Given the description of an element on the screen output the (x, y) to click on. 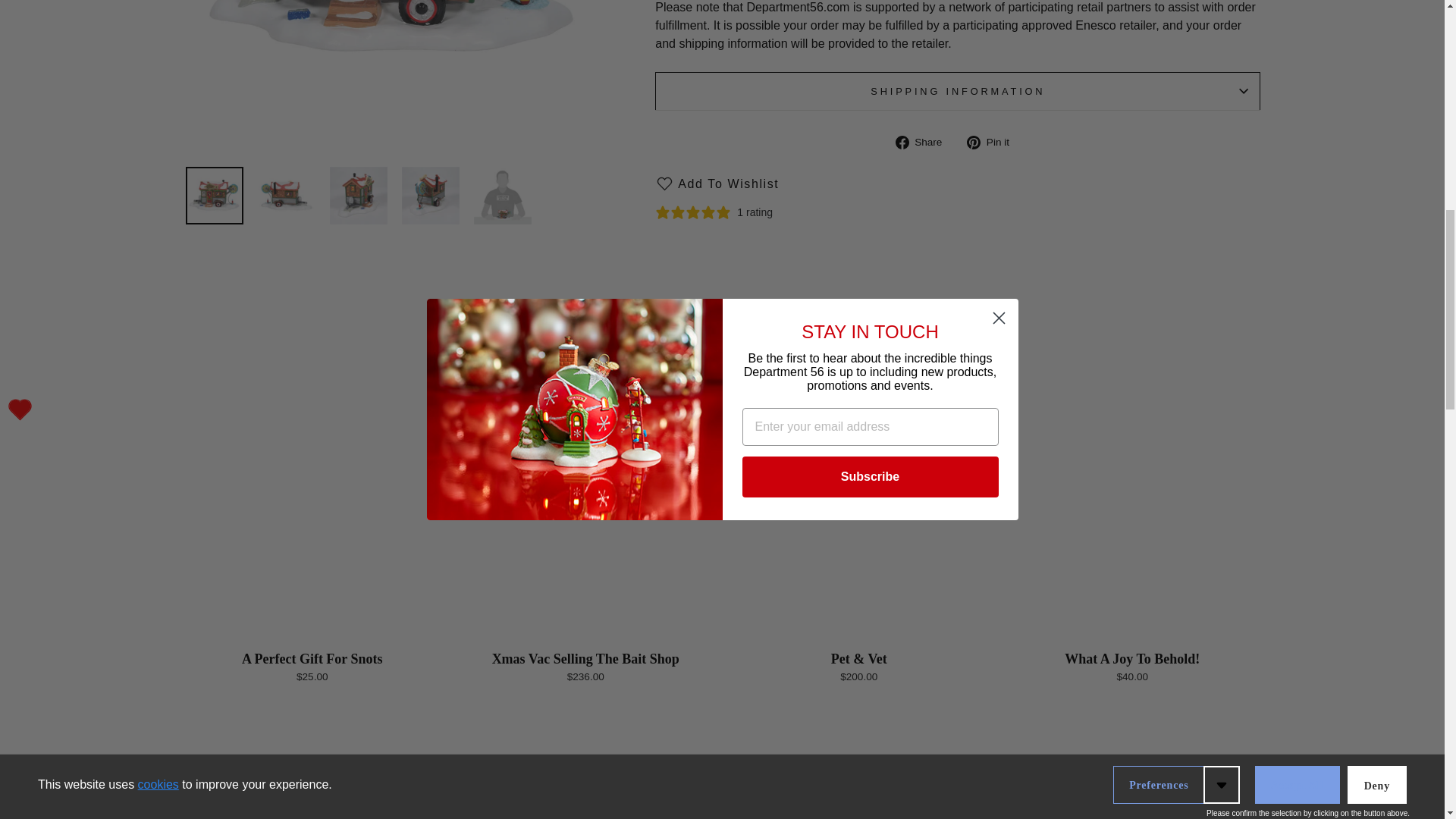
Pin on Pinterest (993, 142)
Share on Facebook (924, 142)
